Given the description of an element on the screen output the (x, y) to click on. 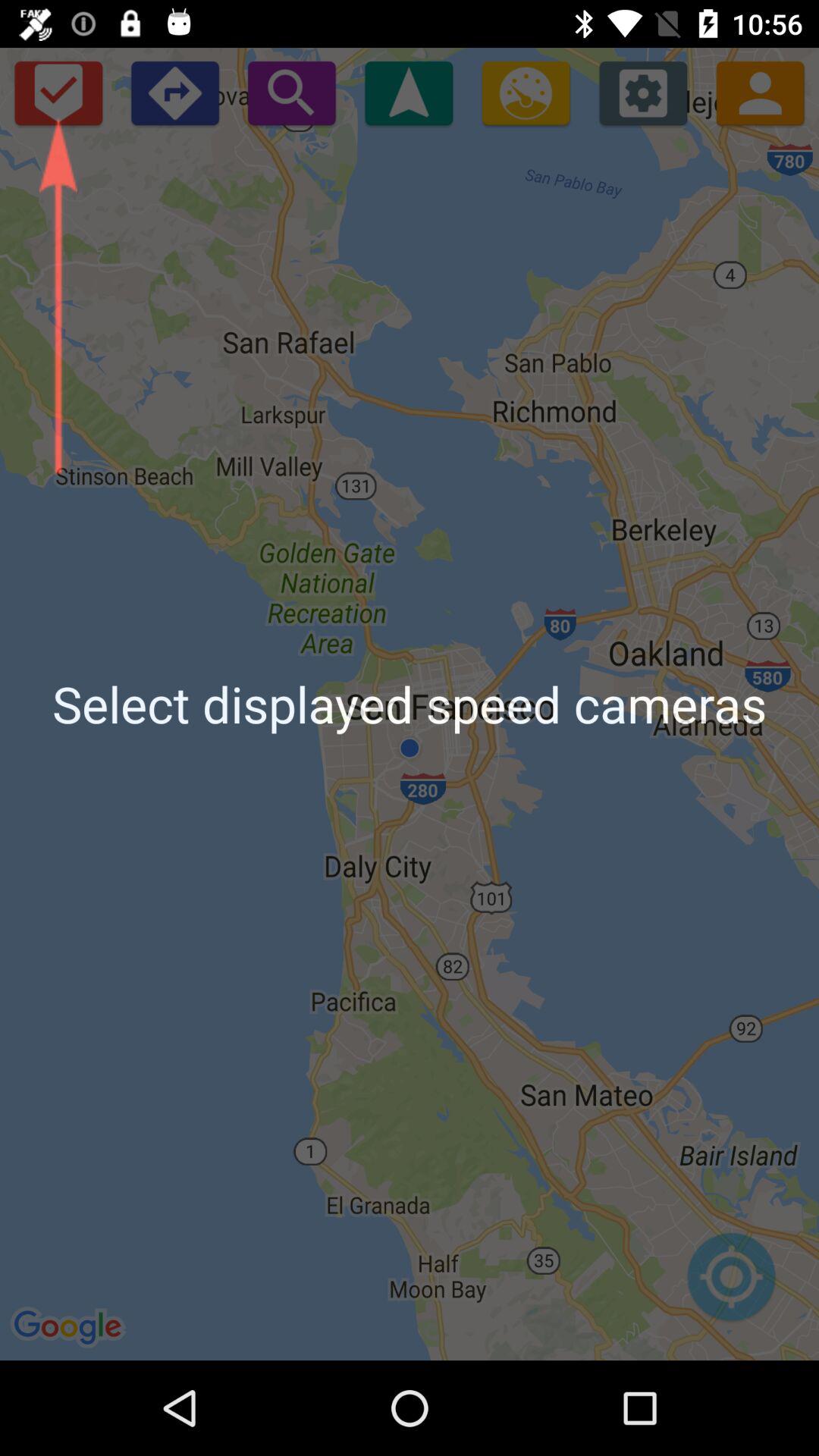
tap icon above the select displayed speed app (642, 92)
